Given the description of an element on the screen output the (x, y) to click on. 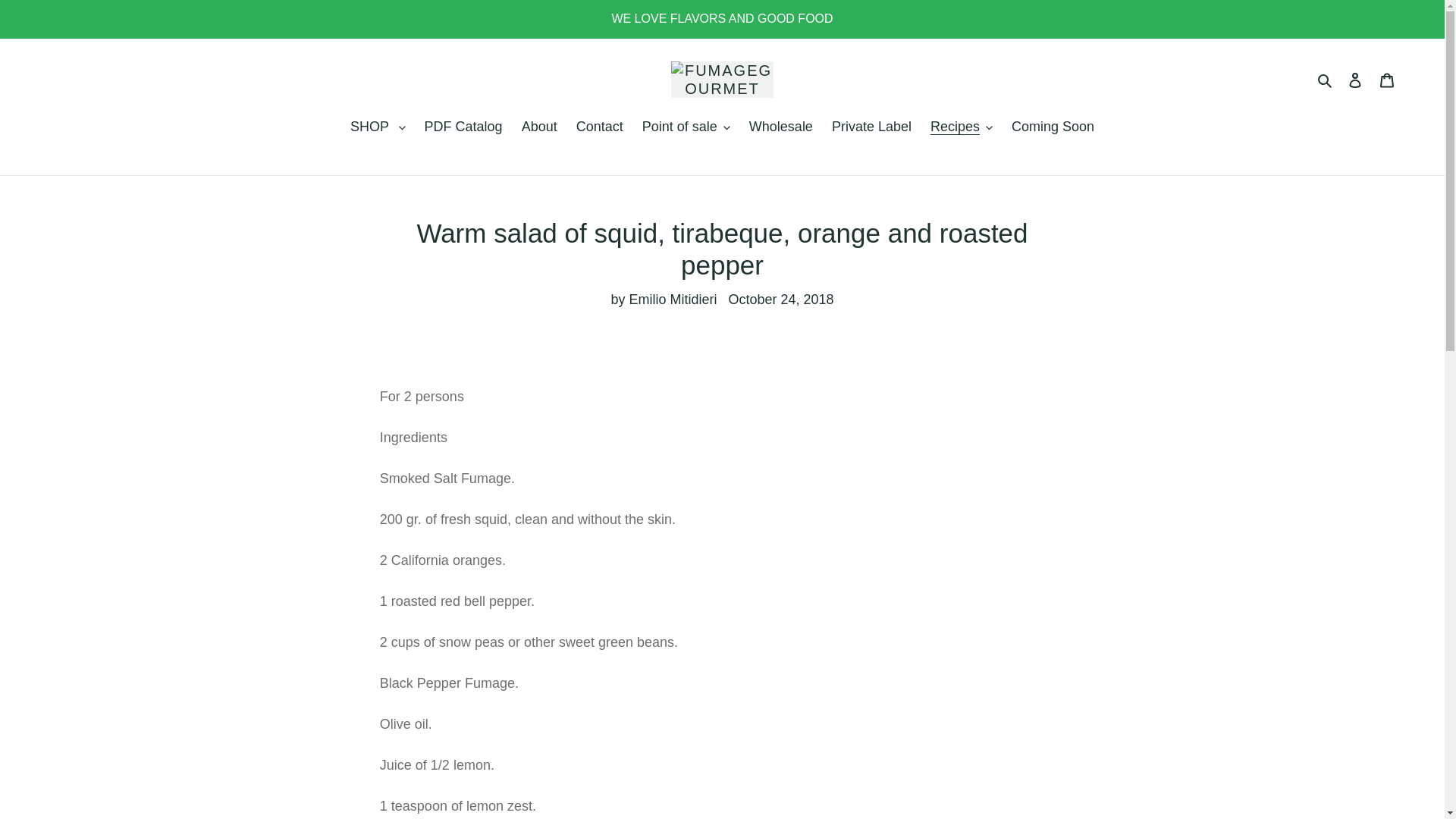
WE LOVE FLAVORS AND GOOD FOOD (721, 18)
Log in (1355, 79)
Search (1326, 78)
Cart (1387, 79)
